Given the description of an element on the screen output the (x, y) to click on. 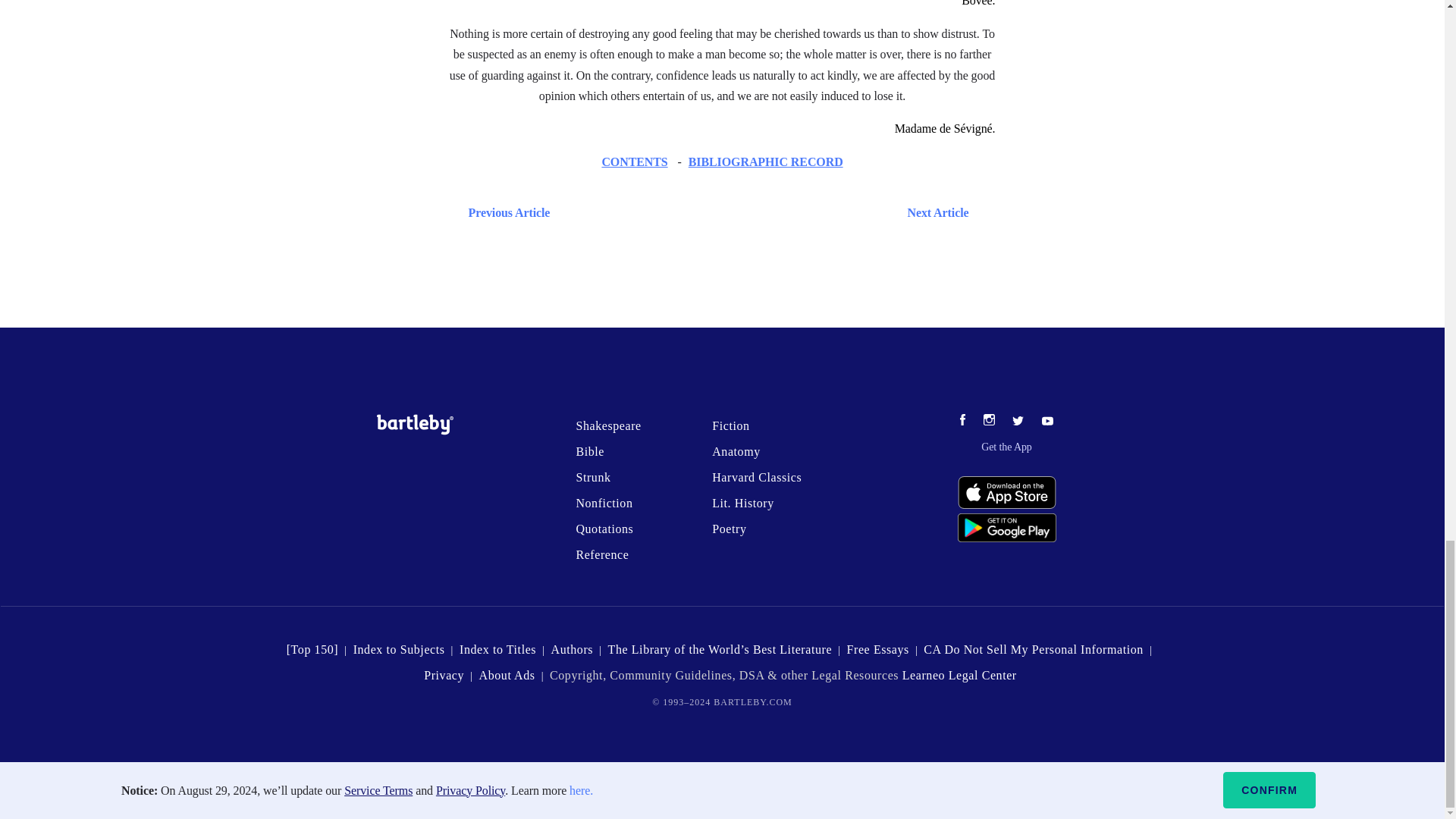
Anatomy (735, 451)
Poetry (728, 528)
Shakespeare (607, 425)
Bible (589, 451)
BIBLIOGRAPHIC RECORD (765, 161)
Fiction (730, 425)
Harvard Classics (756, 477)
Lit. History (742, 502)
Previous Article (505, 212)
Next Article (766, 212)
